Given the description of an element on the screen output the (x, y) to click on. 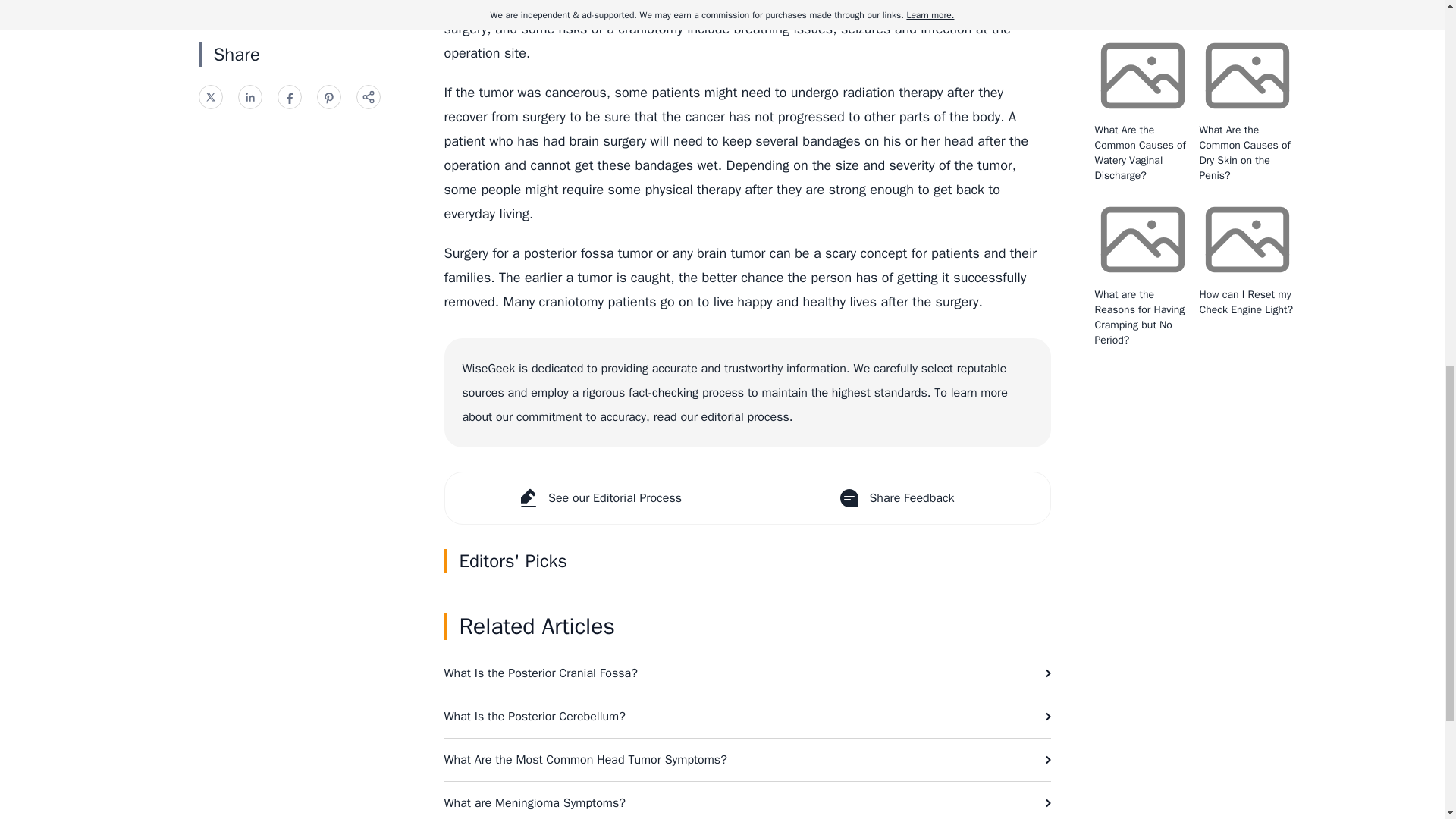
See our Editorial Process (595, 498)
What Are the Most Common Head Tumor Symptoms? (747, 759)
What are Meningioma Symptoms? (747, 800)
Share Feedback (898, 498)
What Is the Posterior Cerebellum? (747, 716)
What Is the Posterior Cranial Fossa? (747, 672)
